Given the description of an element on the screen output the (x, y) to click on. 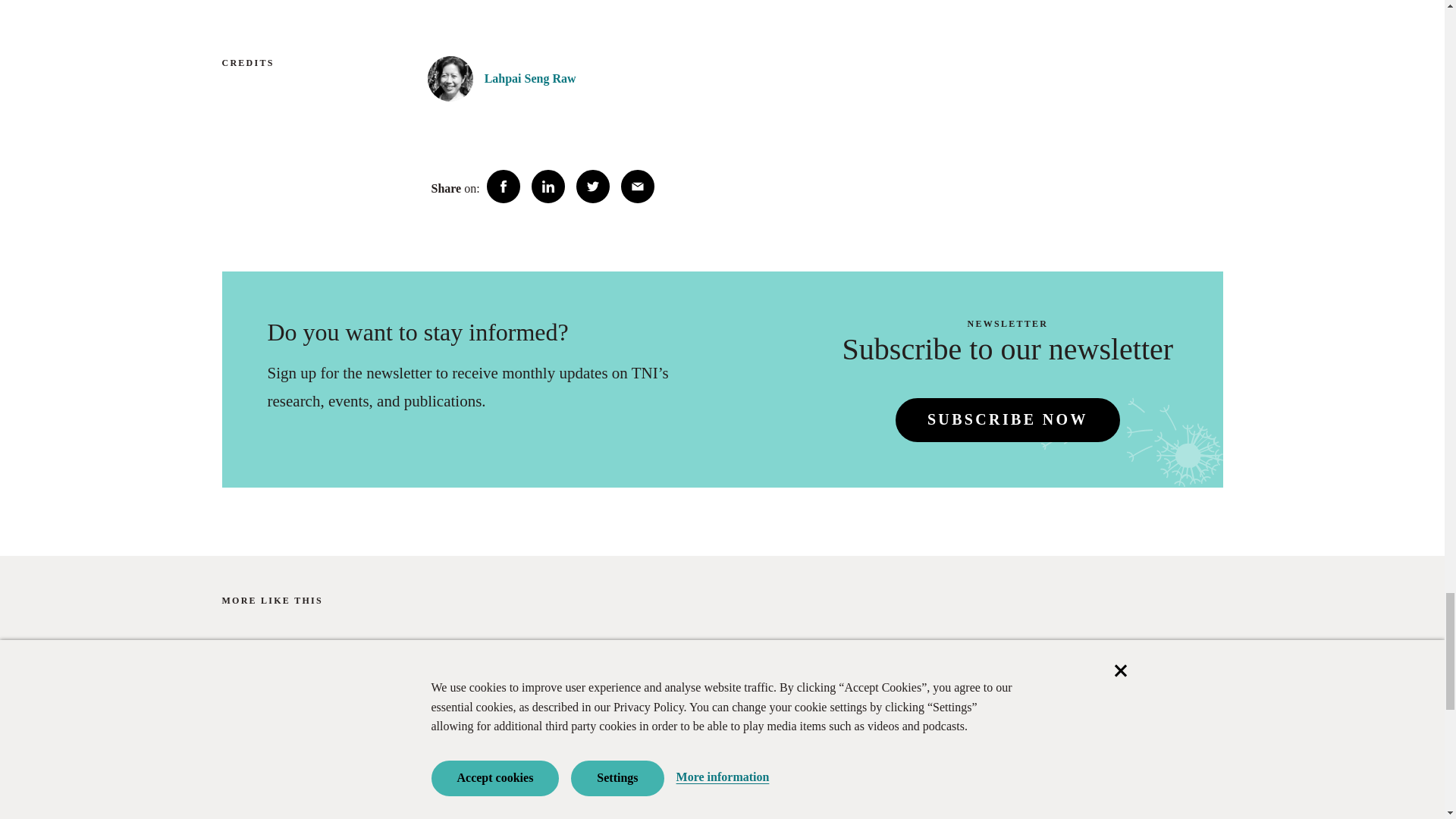
Email (637, 186)
Linkedin (547, 186)
Twitter (593, 186)
Facebook (502, 186)
